Given the description of an element on the screen output the (x, y) to click on. 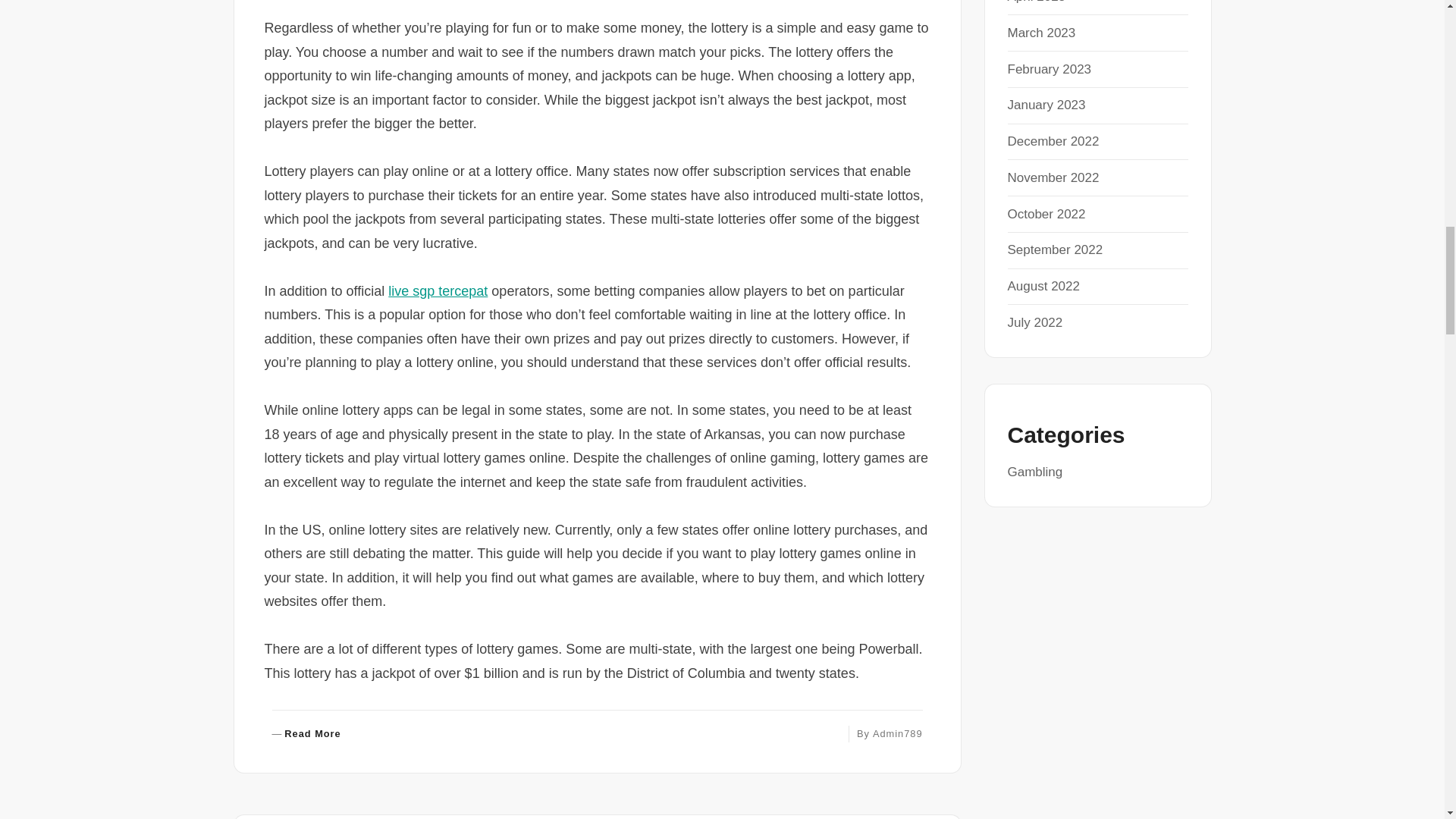
Admin789 (897, 733)
live sgp tercepat (437, 290)
